Given the description of an element on the screen output the (x, y) to click on. 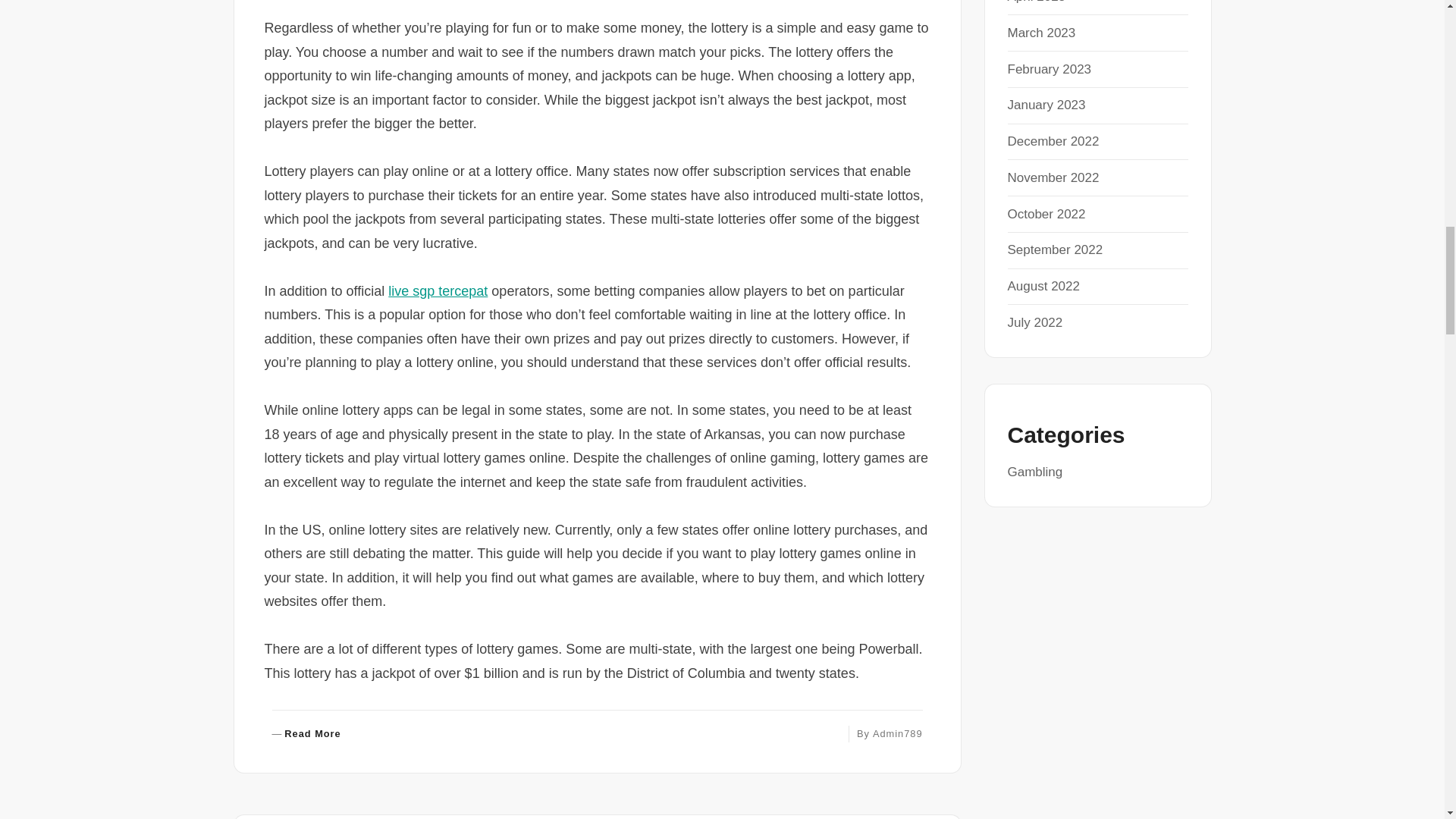
Admin789 (897, 733)
live sgp tercepat (437, 290)
